Given the description of an element on the screen output the (x, y) to click on. 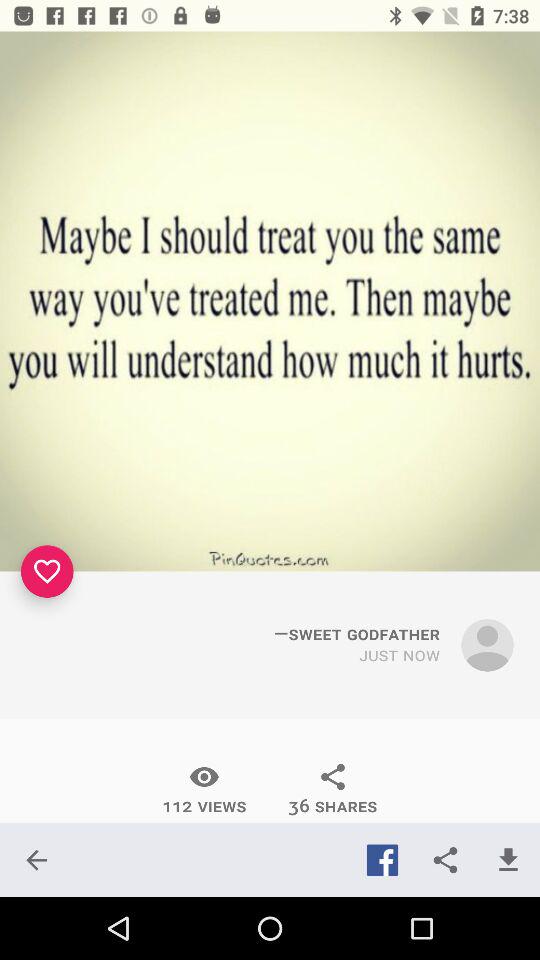
this image was quotes (270, 301)
